Given the description of an element on the screen output the (x, y) to click on. 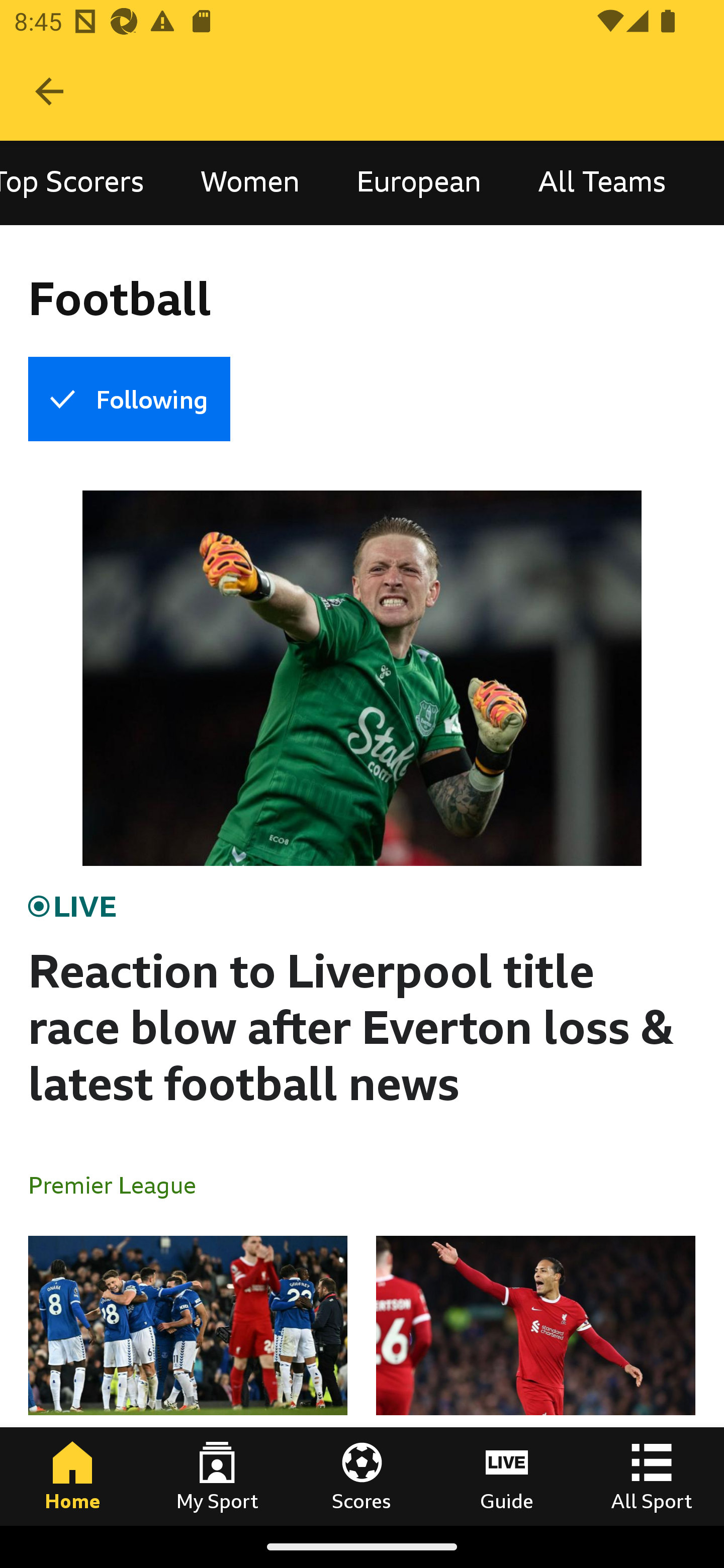
Navigate up (49, 91)
Top Scorers (86, 183)
Women (249, 183)
European (418, 183)
All Teams (601, 183)
Following Football Following (129, 398)
Premier League In the section Premier League (119, 1184)
Van Dijk questions desire of team-mates after loss (535, 1380)
My Sport (216, 1475)
Scores (361, 1475)
Guide (506, 1475)
All Sport (651, 1475)
